Given the description of an element on the screen output the (x, y) to click on. 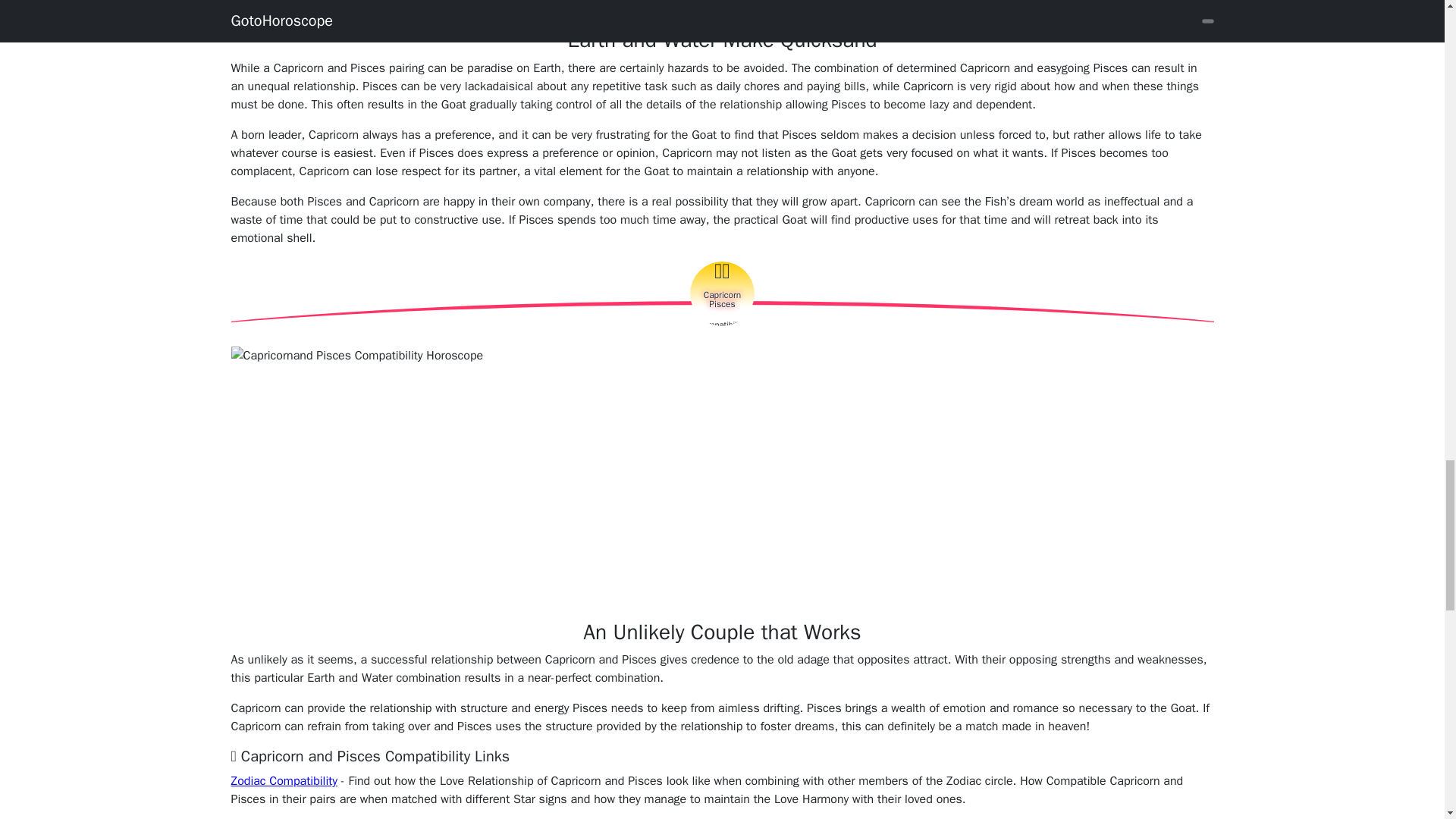
Zodiac Compatibility (283, 780)
